Given the description of an element on the screen output the (x, y) to click on. 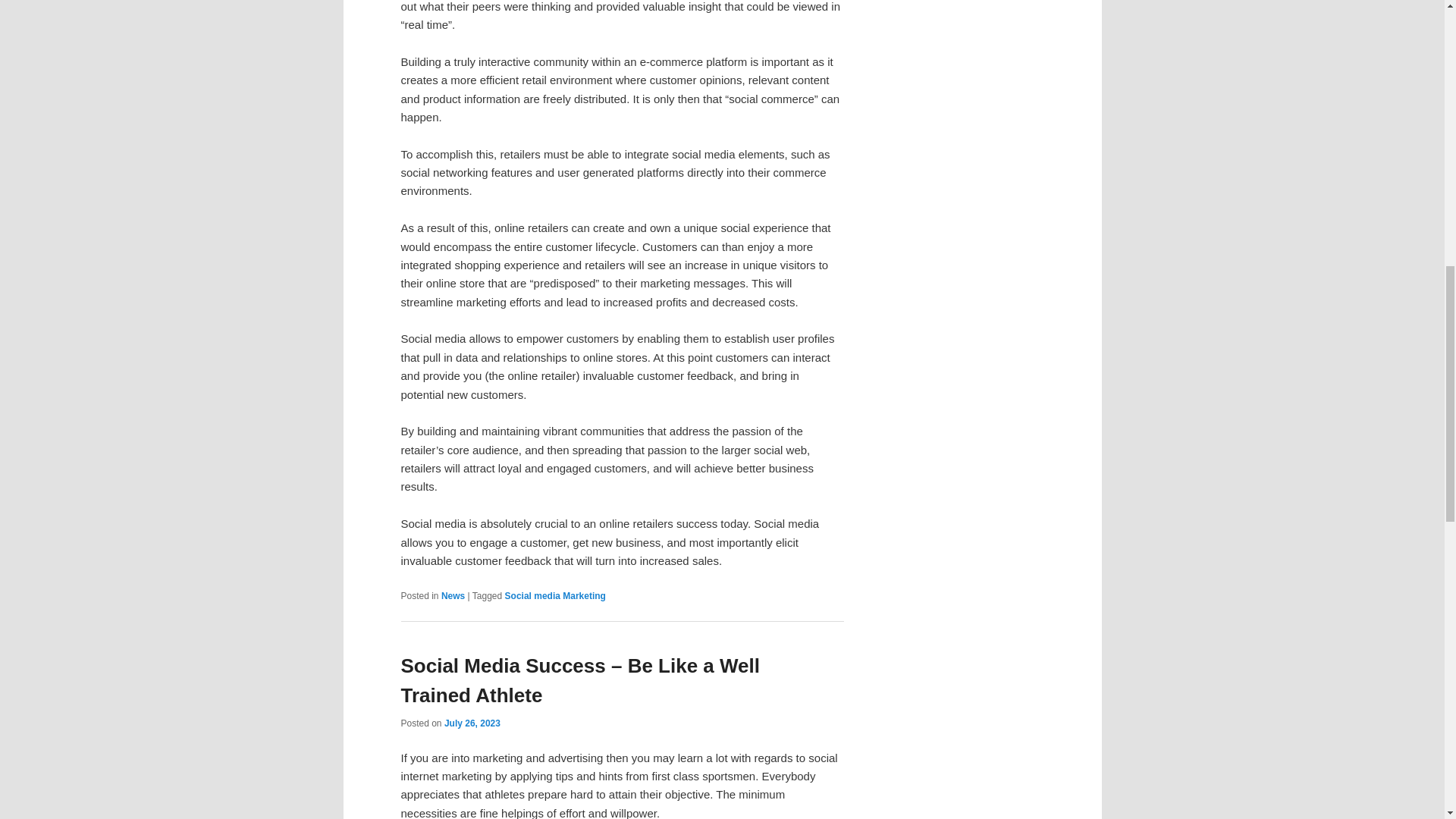
7:34 pm (472, 723)
July 26, 2023 (472, 723)
News (452, 595)
Social media Marketing (555, 595)
